Given the description of an element on the screen output the (x, y) to click on. 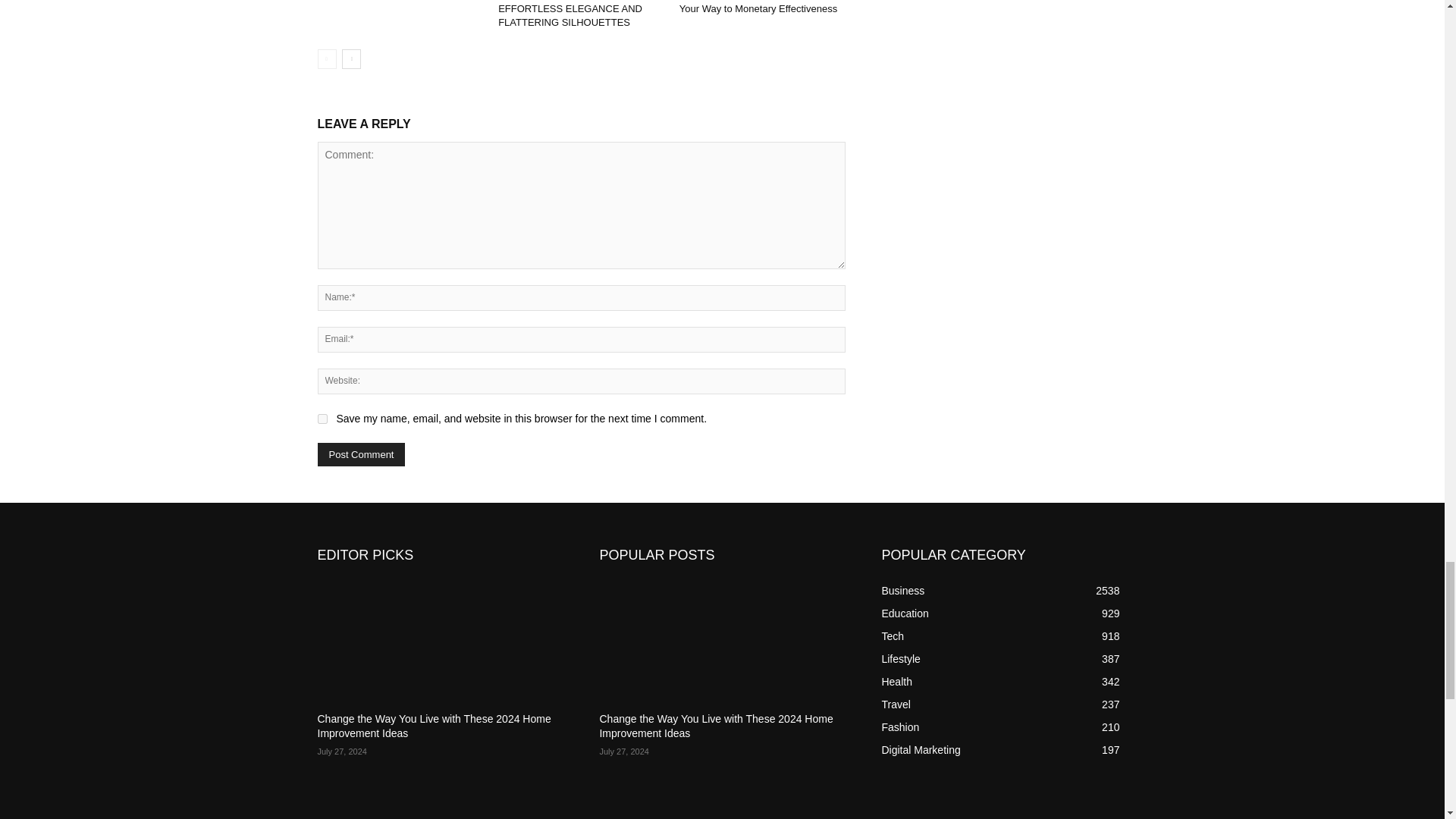
Post Comment (360, 454)
yes (321, 419)
